Given the description of an element on the screen output the (x, y) to click on. 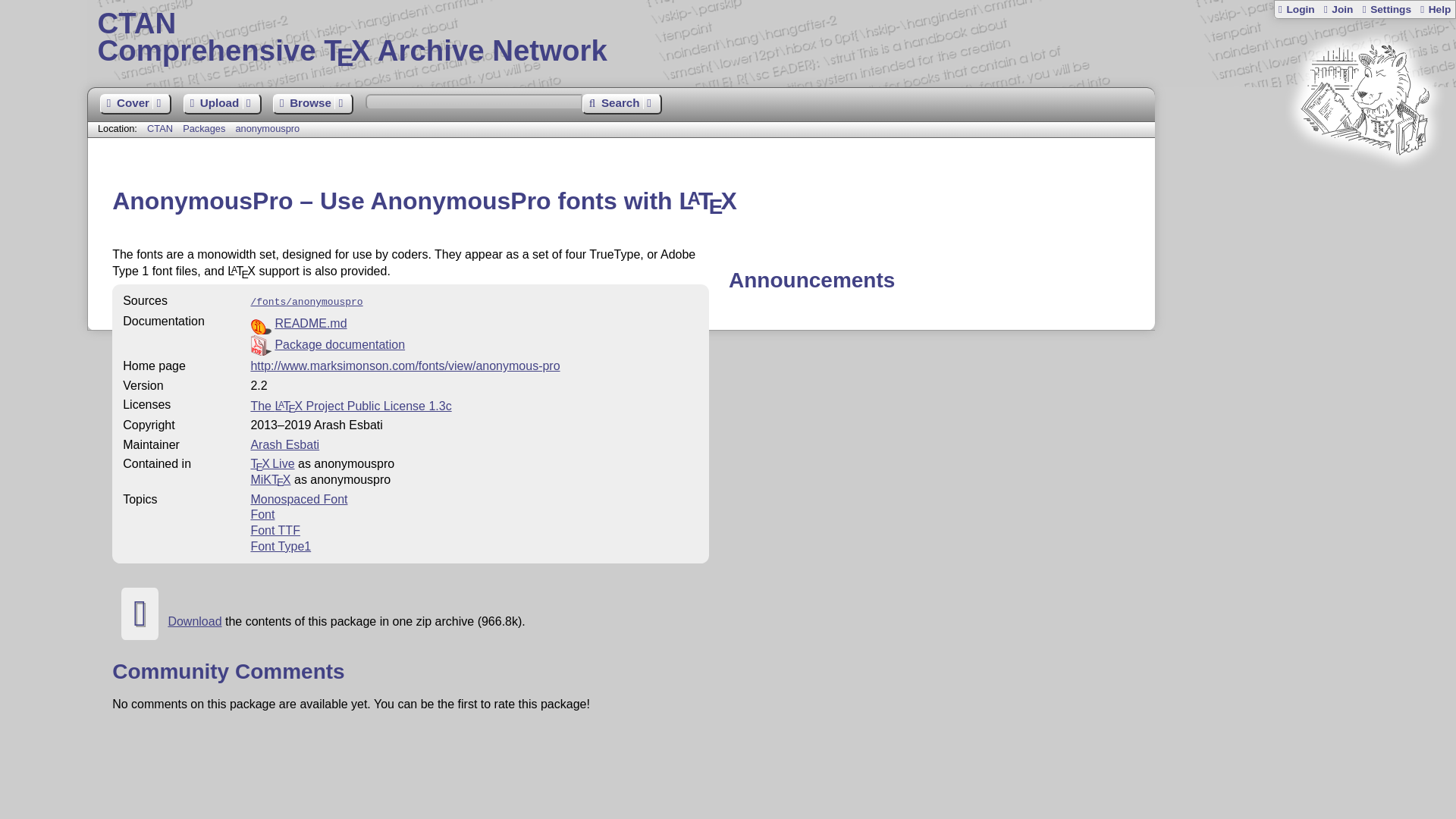
CTAN lion drawing by Duane Bibby (1364, 183)
README.md (310, 323)
Packages (205, 128)
Login (1296, 8)
Settings (1385, 8)
Help (1434, 8)
The LATEX Project Public License 1.3c (350, 405)
Package documentation (339, 344)
Register a new personal account on this site (1337, 8)
MiKTEX (269, 479)
Browse (313, 104)
Upload (222, 104)
Adjust the appearance to your taste (771, 37)
